Given the description of an element on the screen output the (x, y) to click on. 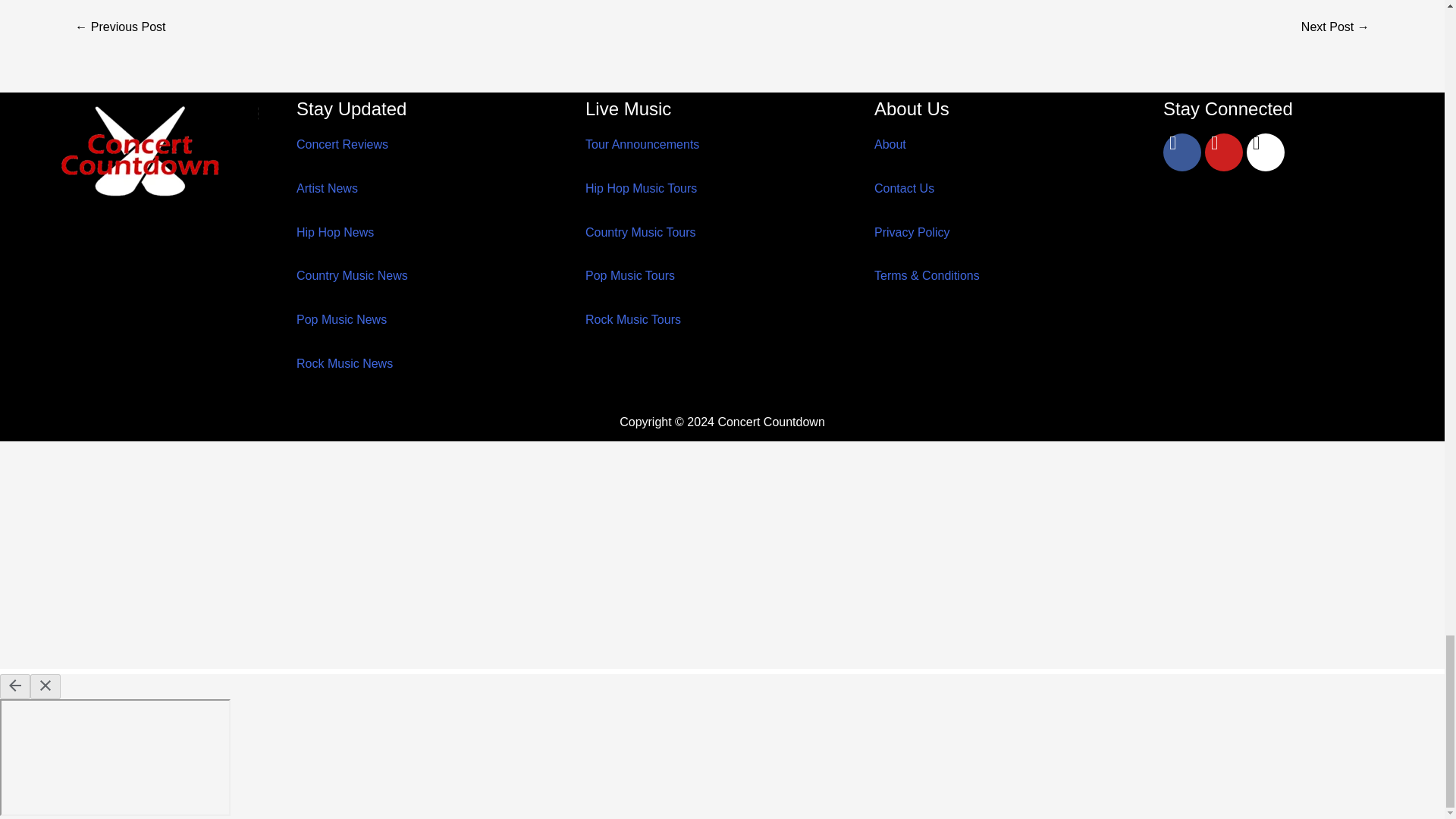
Country Music News (352, 275)
Pop Music News (342, 318)
Artist News (327, 187)
Slipknot Shares Image Of New Drummers Stick (1334, 28)
Ariana Grande Releases eternal sunshine (119, 28)
Concert Reviews (342, 144)
Rock Music News (345, 363)
Concert Reviews (342, 144)
Hip Hop News (335, 232)
